Given the description of an element on the screen output the (x, y) to click on. 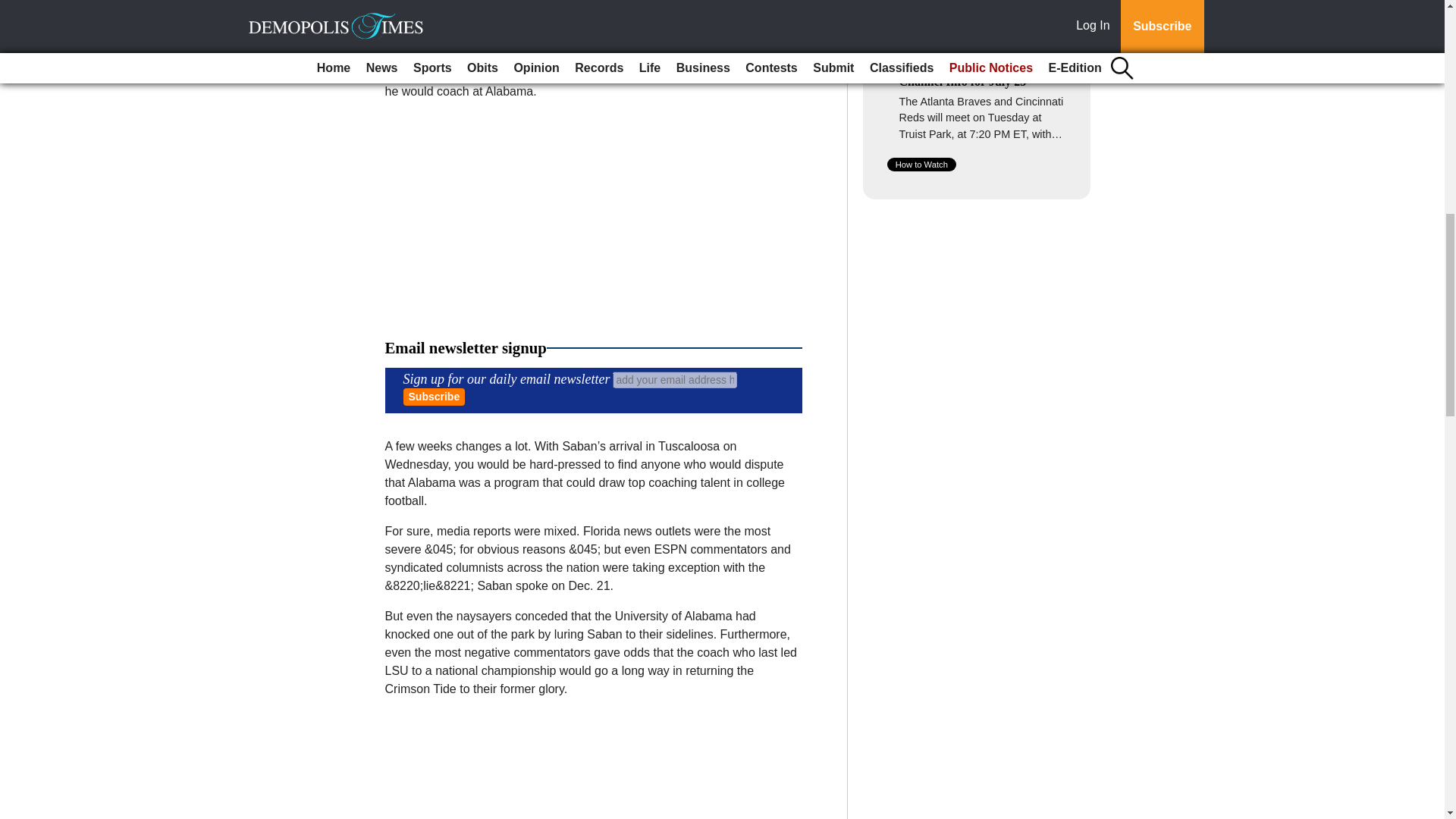
Subscribe (434, 396)
How to Watch (921, 164)
Subscribe (434, 396)
